Given the description of an element on the screen output the (x, y) to click on. 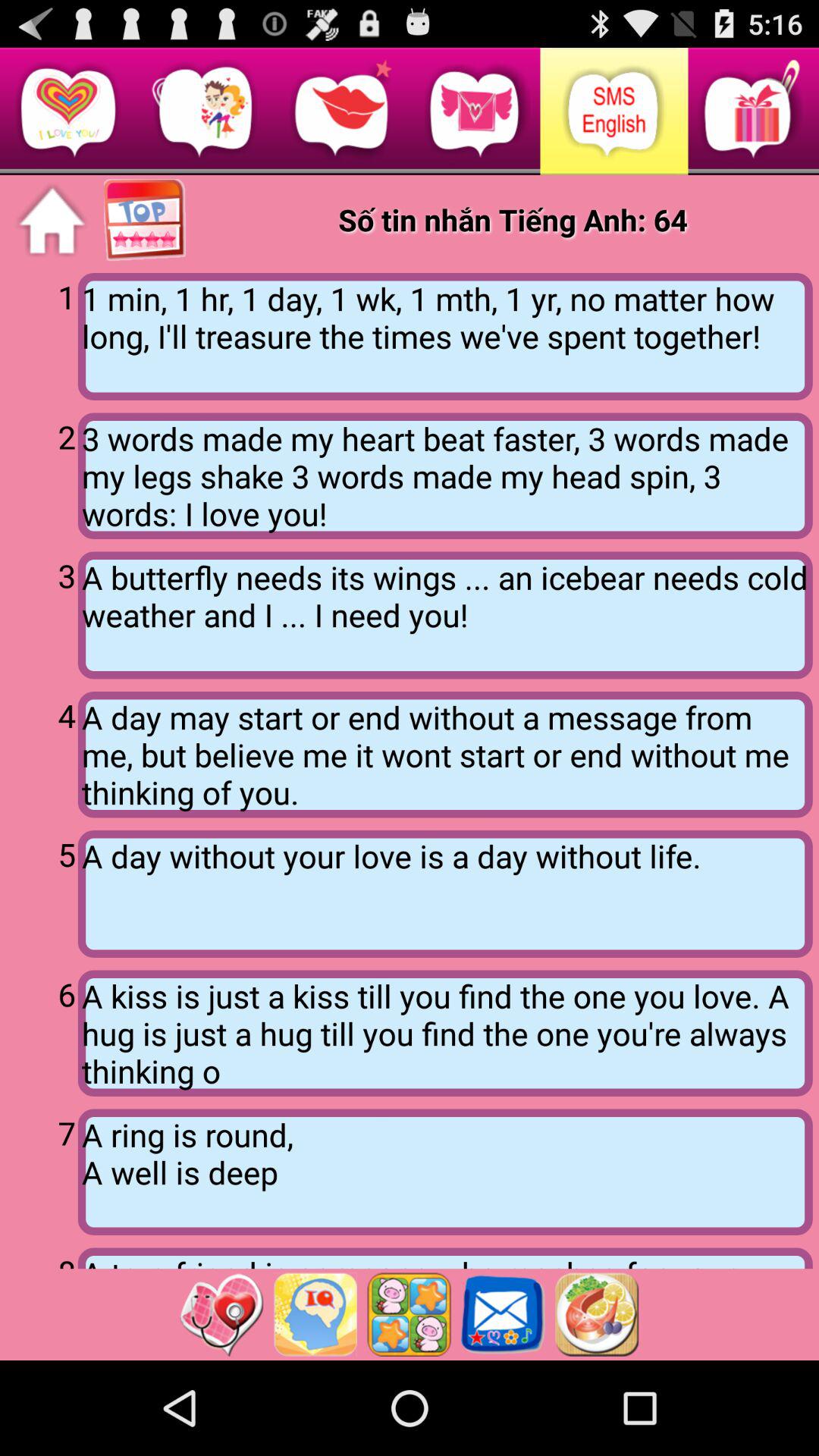
get iq app (315, 1314)
